Given the description of an element on the screen output the (x, y) to click on. 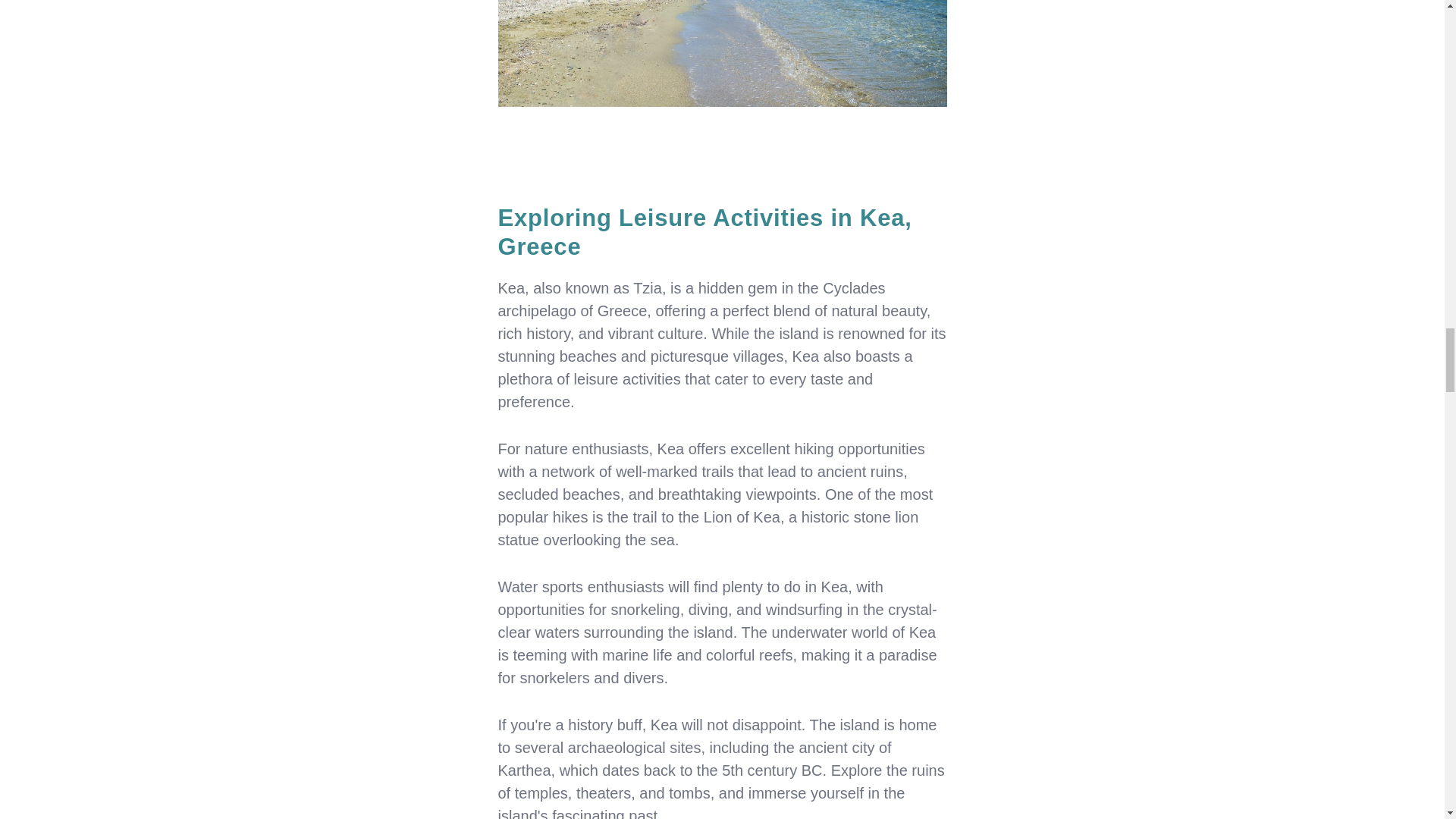
Kea view (721, 53)
